Given the description of an element on the screen output the (x, y) to click on. 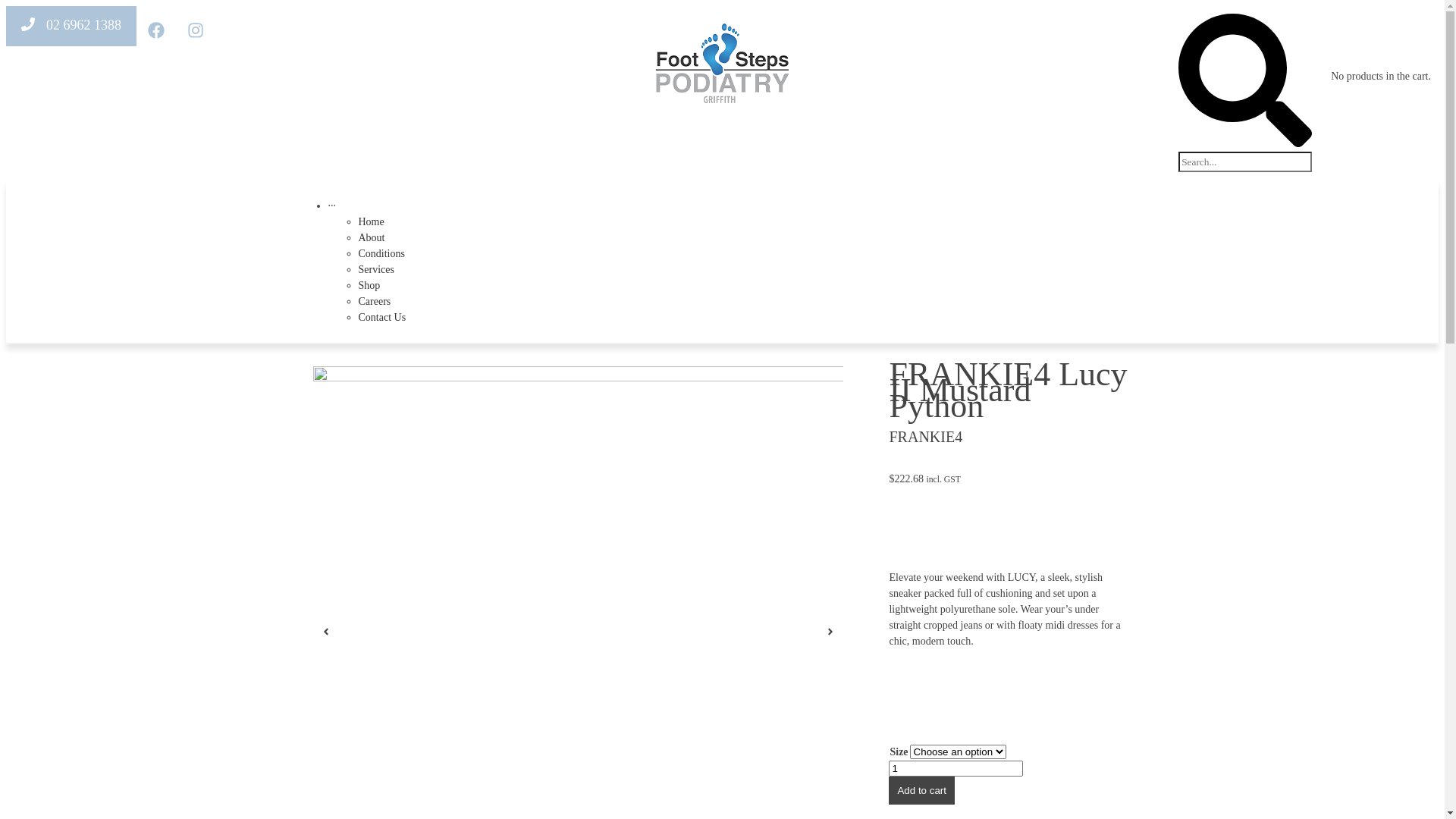
Conditions Element type: text (751, 253)
Size Guide Element type: text (937, 726)
Careers Element type: text (751, 301)
About Element type: text (751, 237)
Services Element type: text (751, 269)
Contact Us Element type: text (751, 317)
Add to cart Element type: text (920, 790)
$0.00 0
Cart Element type: text (1348, 100)
Shop Element type: text (751, 285)
Size Guide Element type: text (937, 691)
Home Element type: text (751, 221)
FRANKIE4 Element type: text (925, 436)
02 6962 1388 Element type: text (71, 26)
